Given the description of an element on the screen output the (x, y) to click on. 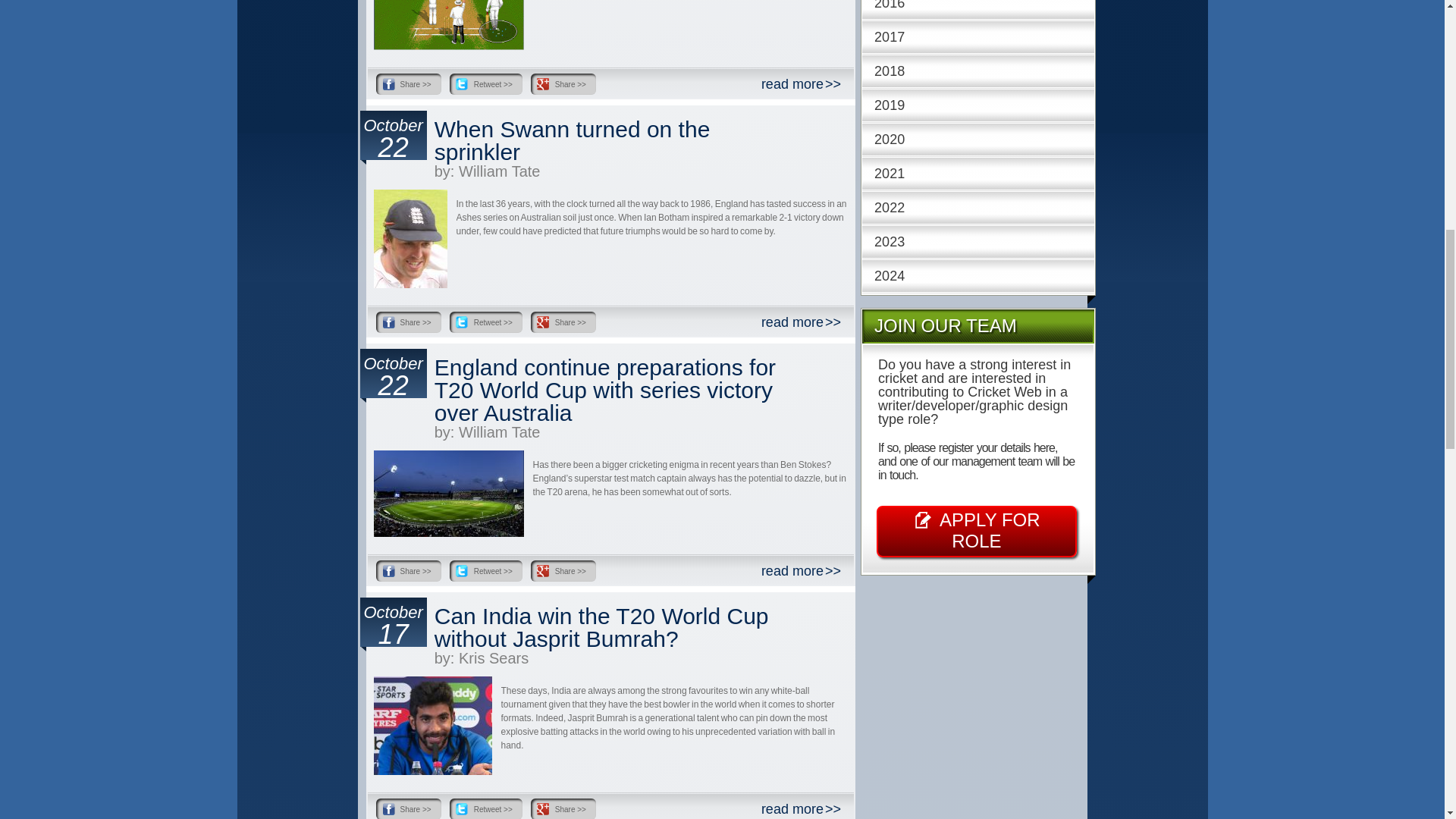
Posts by William Tate (499, 432)
Posts by William Tate (499, 170)
Posts by Kris Sears (493, 658)
